Given the description of an element on the screen output the (x, y) to click on. 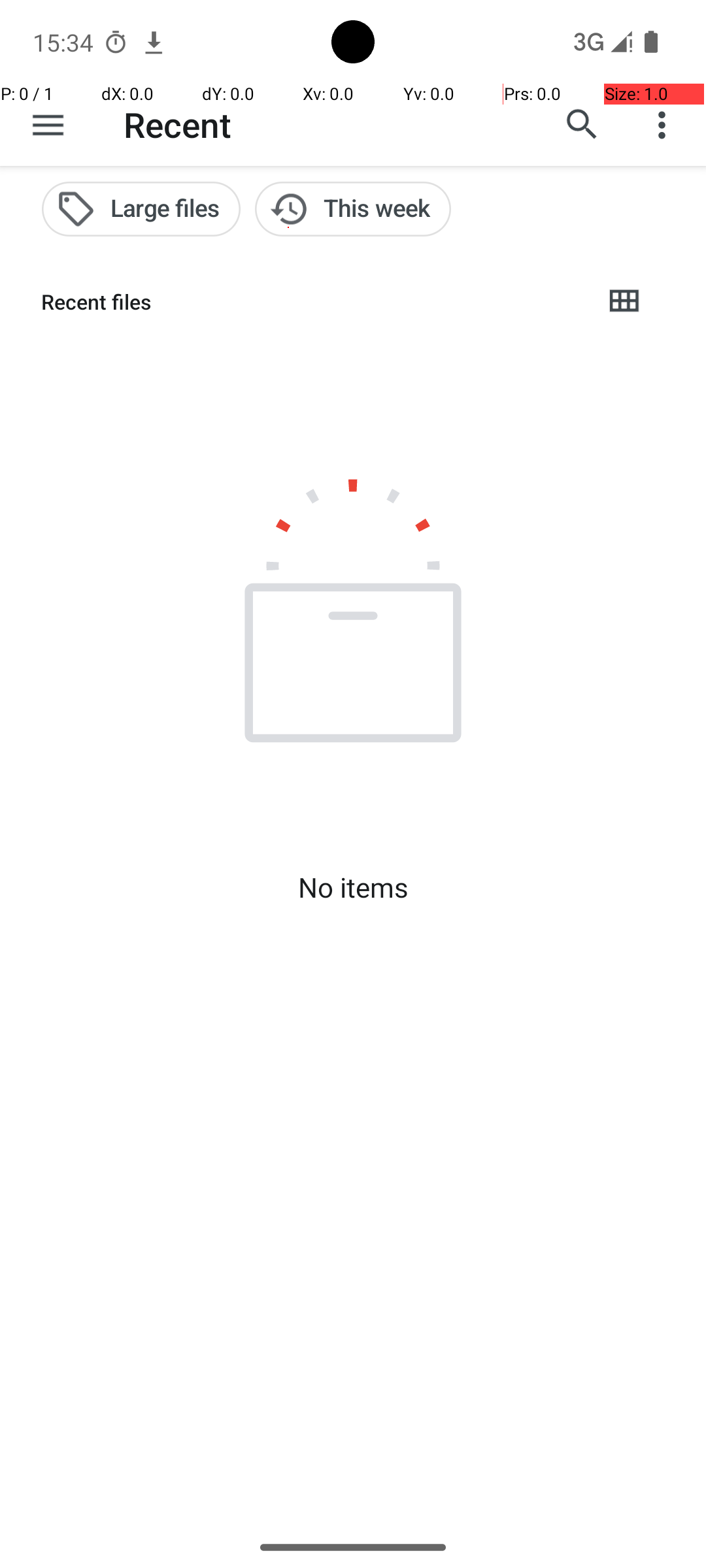
Chrome notification: www.espn.com Element type: android.widget.ImageView (153, 41)
